Given the description of an element on the screen output the (x, y) to click on. 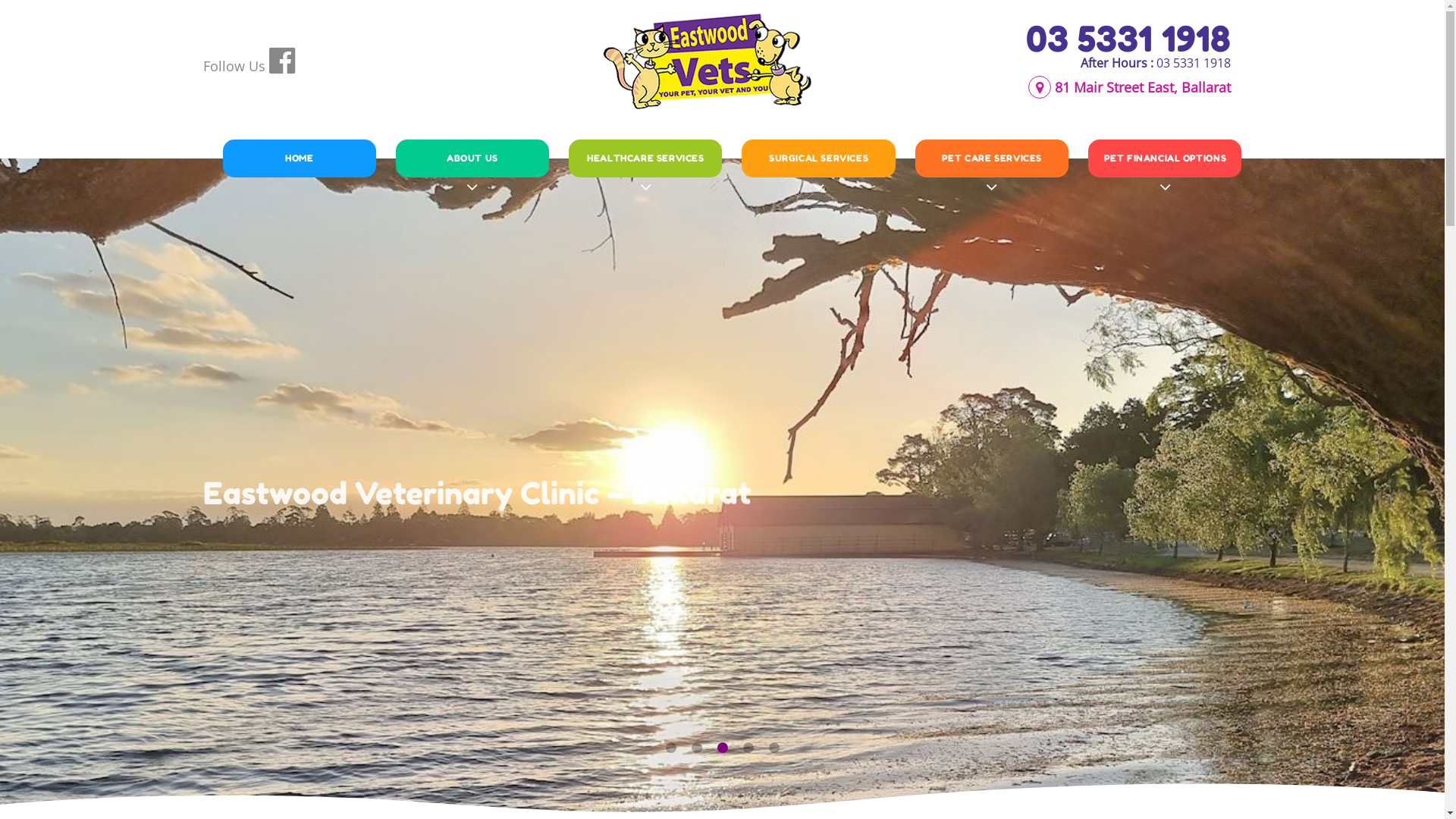
03 5331 1918 Element type: text (1192, 62)
SURGICAL SERVICES Element type: text (817, 158)
HOME Element type: text (298, 158)
PET FINANCIAL OPTIONS Element type: text (1164, 158)
HEALTHCARE SERVICES Element type: text (645, 158)
ABOUT US Element type: text (472, 158)
PET CARE SERVICES Element type: text (991, 158)
03 5331 1918 Element type: text (1127, 38)
